Given the description of an element on the screen output the (x, y) to click on. 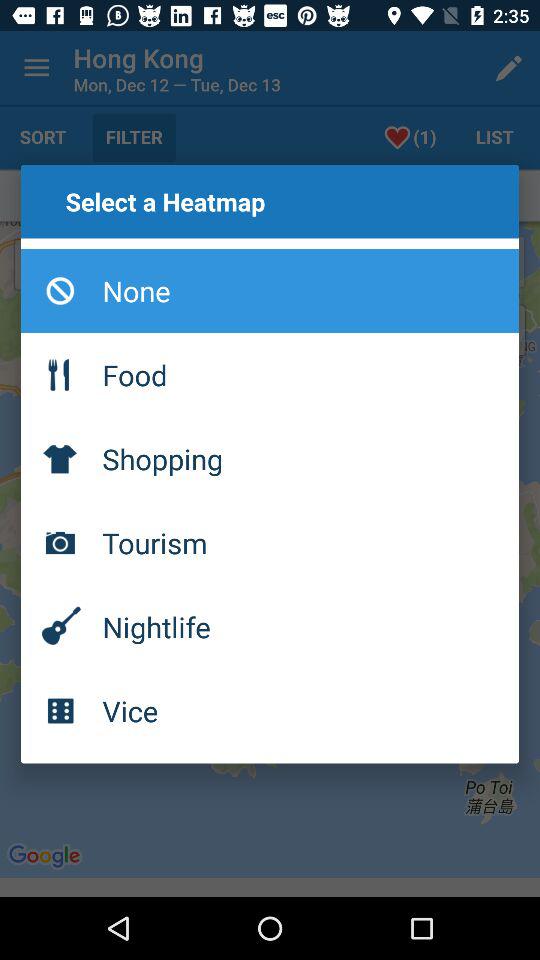
choose the item below the food (270, 458)
